Given the description of an element on the screen output the (x, y) to click on. 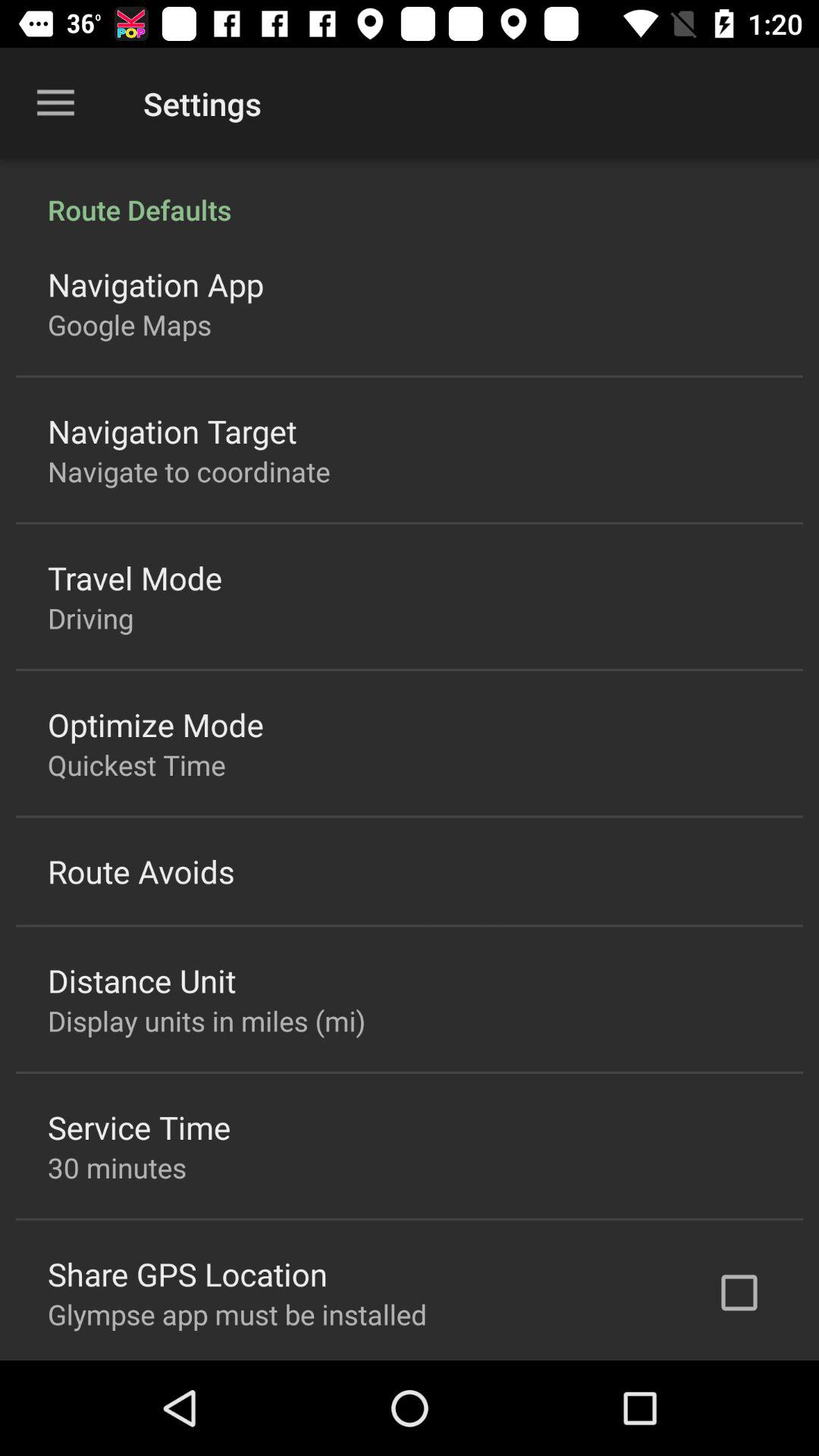
swipe to the glympse app must item (237, 1314)
